Given the description of an element on the screen output the (x, y) to click on. 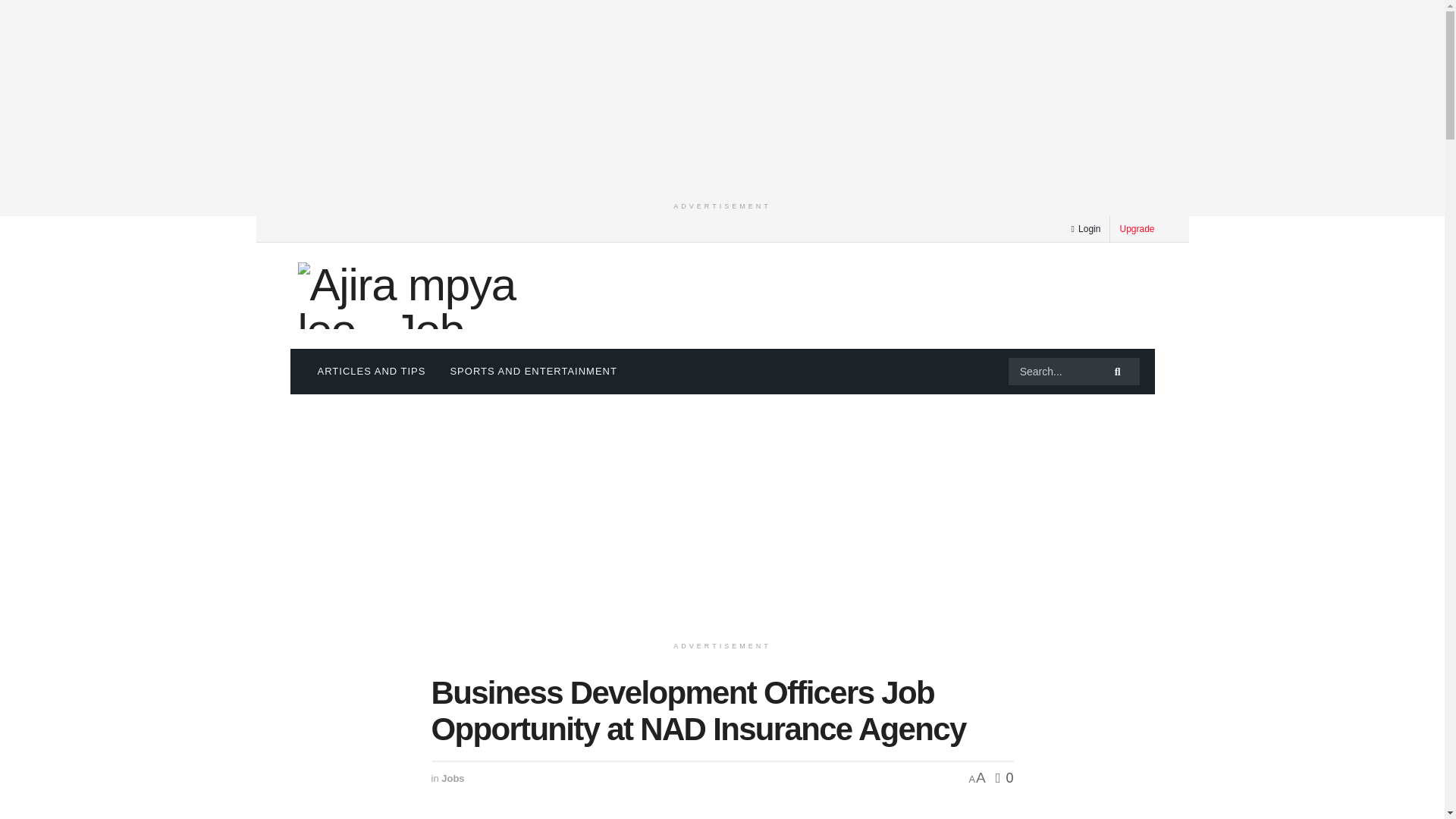
0 (1004, 777)
ARTICLES AND TIPS (371, 370)
Jobs (452, 778)
SPORTS AND ENTERTAINMENT (533, 370)
Upgrade (1136, 228)
Login (1085, 228)
